Given the description of an element on the screen output the (x, y) to click on. 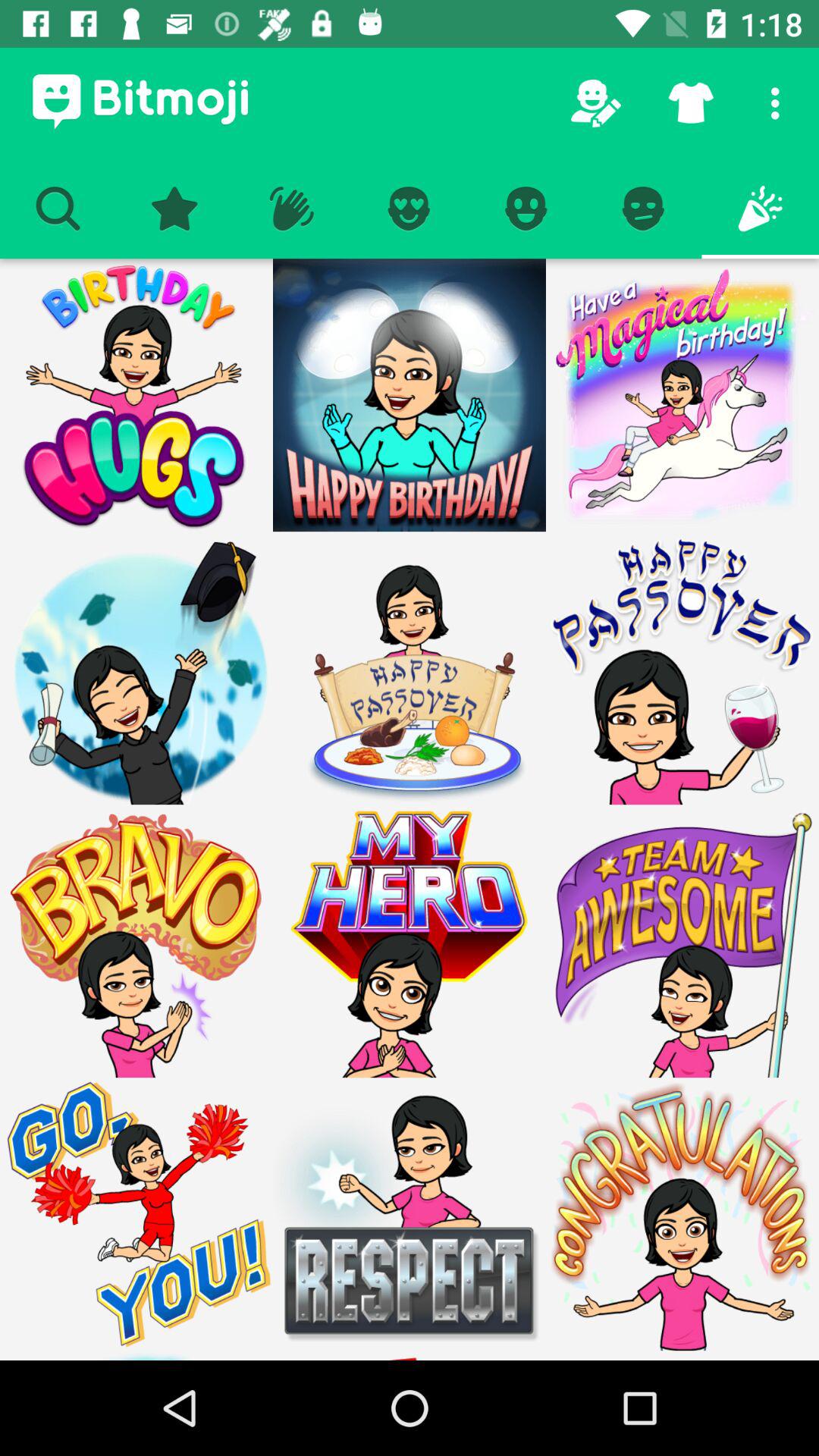
sticker (409, 940)
